Given the description of an element on the screen output the (x, y) to click on. 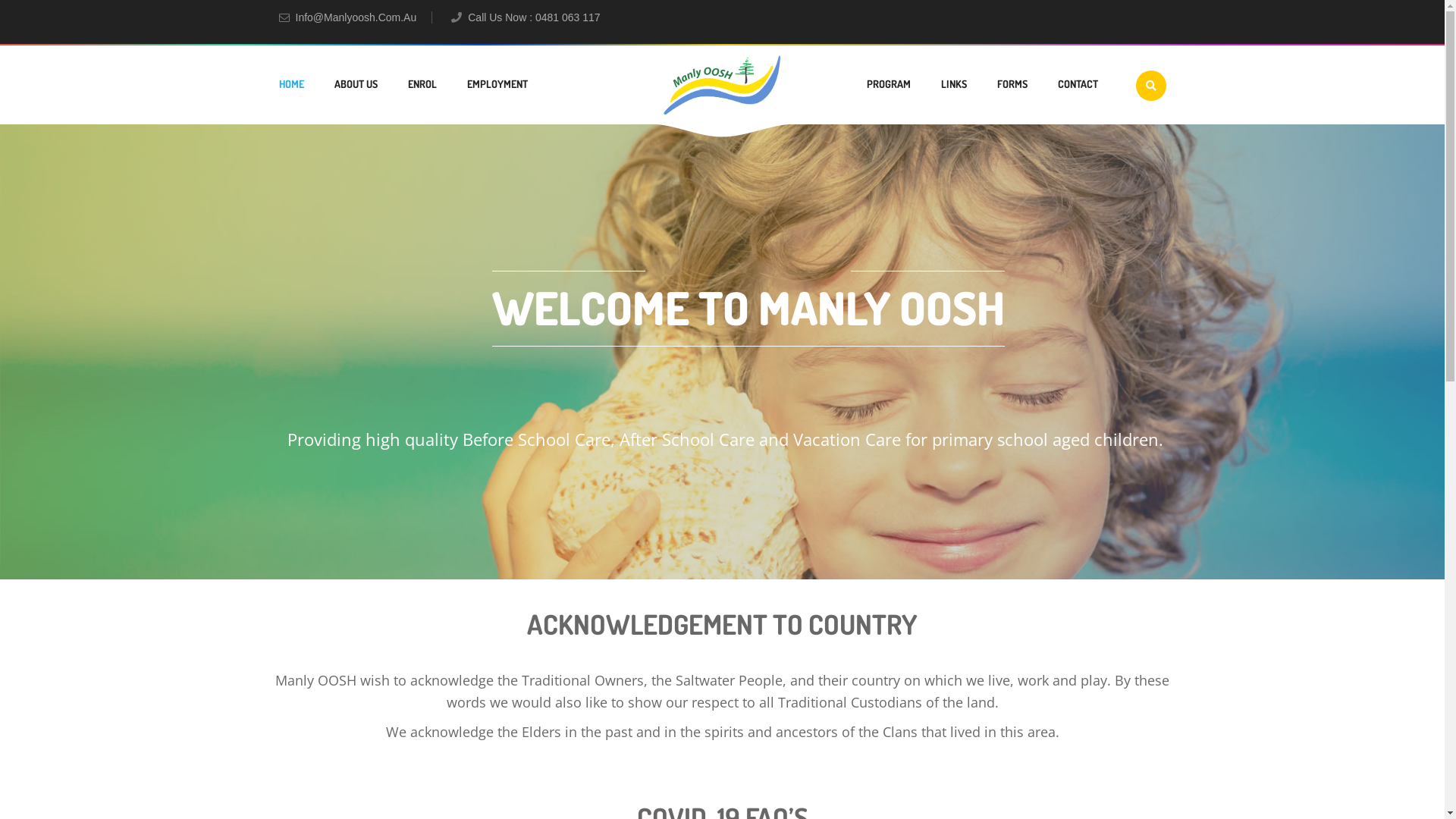
ABOUT US Element type: text (354, 83)
PROGRAM Element type: text (888, 83)
CONTACT Element type: text (1077, 83)
Info@Manlyoosh.Com.Au Element type: text (364, 17)
HOME Element type: text (291, 83)
ENROL Element type: text (421, 83)
Saratov Element type: hover (721, 86)
LINKS Element type: text (953, 83)
FORMS Element type: text (1011, 83)
EMPLOYMENT Element type: text (497, 83)
Call Us Now : 0481 063 117 Element type: text (533, 17)
